Given the description of an element on the screen output the (x, y) to click on. 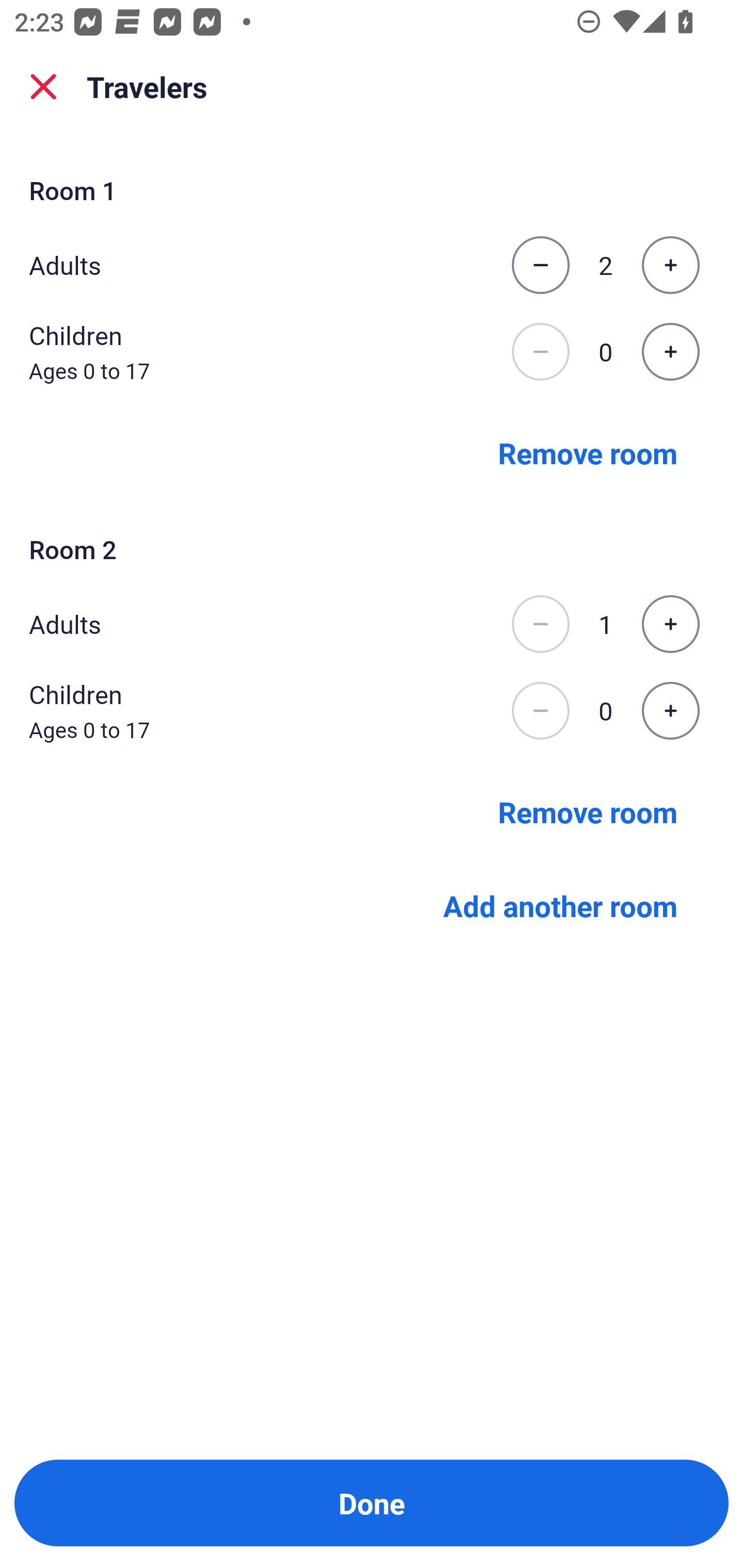
close (43, 86)
Decrease the number of adults (540, 264)
Increase the number of adults (670, 264)
Decrease the number of children (540, 351)
Increase the number of children (670, 351)
Remove room (588, 452)
Decrease the number of adults (540, 623)
Increase the number of adults (670, 623)
Decrease the number of children (540, 710)
Increase the number of children (670, 710)
Remove room (588, 811)
Add another room (560, 905)
Done (371, 1502)
